Given the description of an element on the screen output the (x, y) to click on. 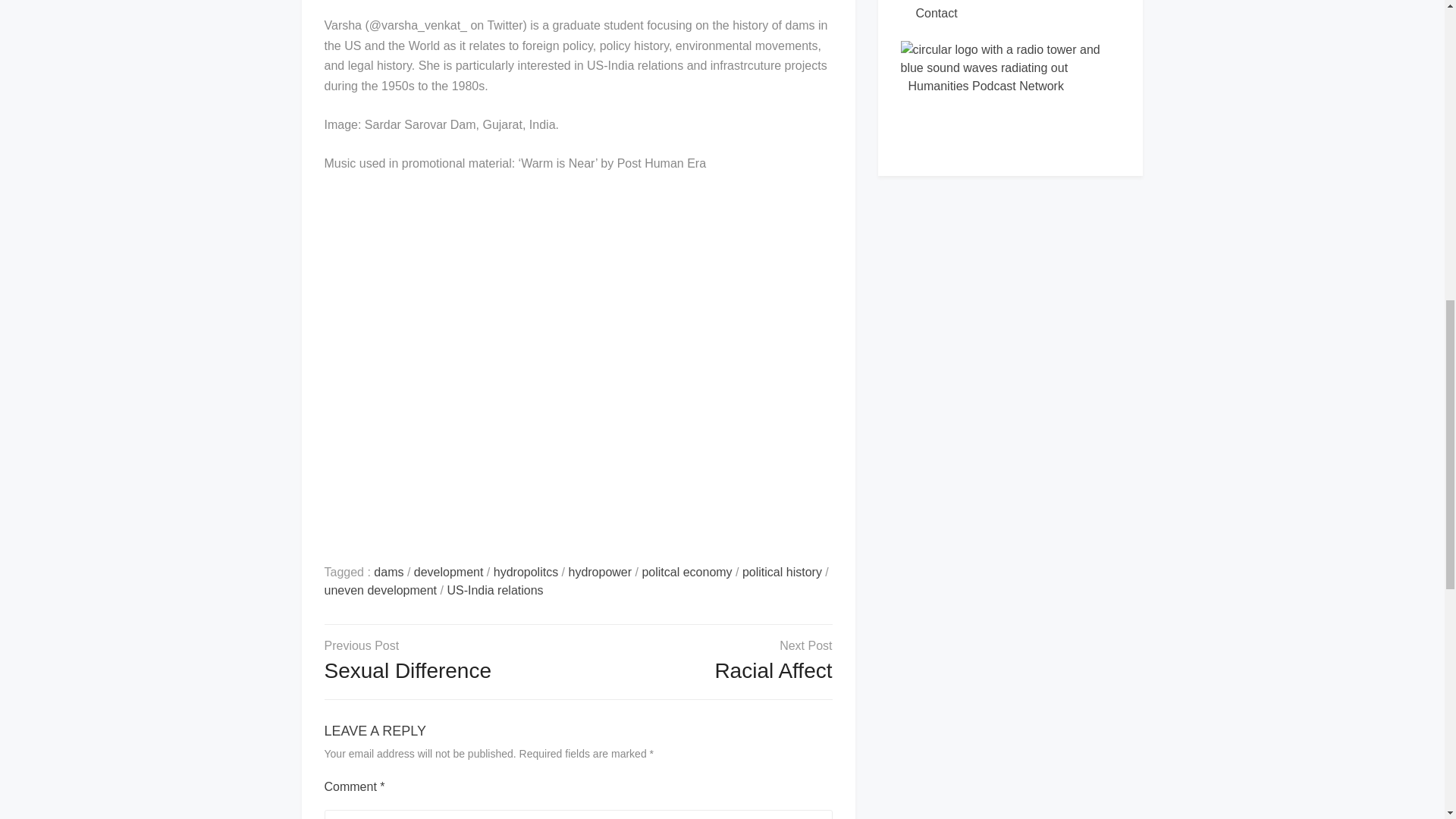
Sexual Difference (408, 670)
Racial Affect (772, 670)
uneven development (381, 590)
politcal economy (687, 571)
US-India relations (494, 590)
dams (388, 571)
hydropolitcs (525, 571)
political history (782, 571)
development (448, 571)
hydropower (599, 571)
